Given the description of an element on the screen output the (x, y) to click on. 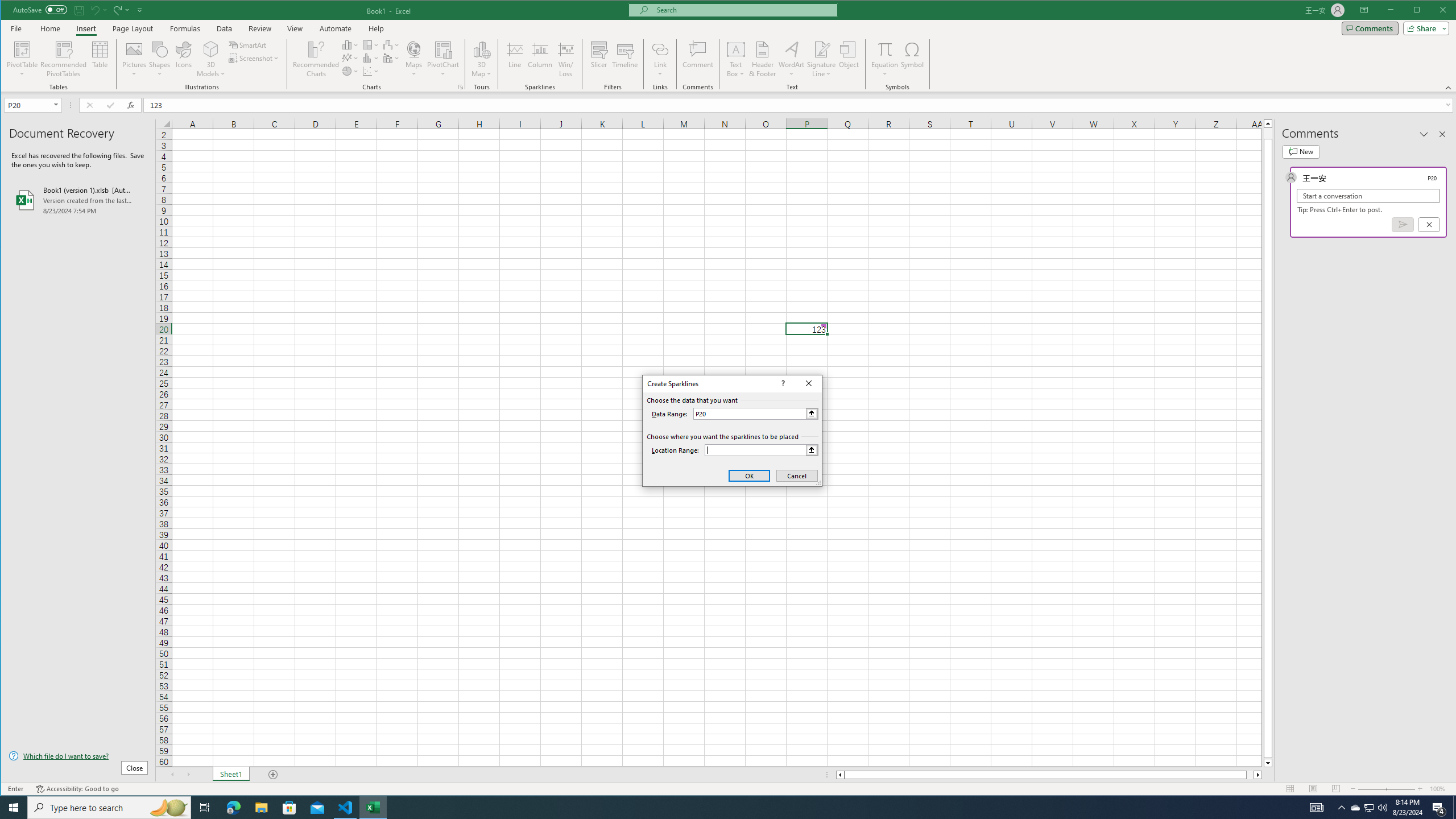
Share (1423, 27)
Insert Line or Area Chart (350, 57)
AutoSave (39, 9)
Type here to search (108, 807)
Insert Pie or Doughnut Chart (350, 70)
Line up (1267, 122)
User Promoted Notification Area (1368, 807)
Comment (1368, 807)
3D Models (697, 59)
Column right (211, 48)
